Given the description of an element on the screen output the (x, y) to click on. 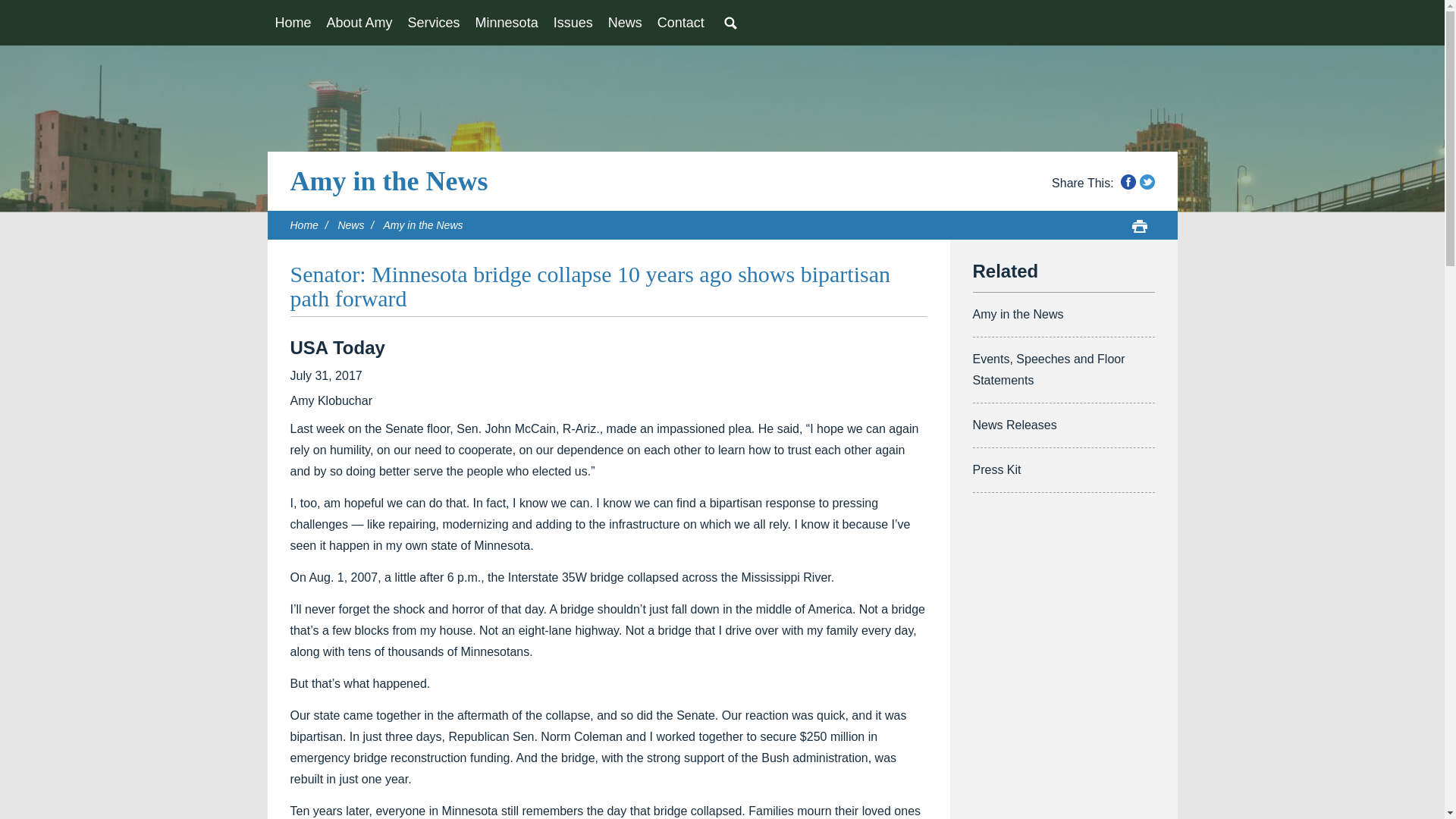
Home (292, 22)
About Amy (359, 22)
Services (433, 22)
Issues (572, 22)
Minnesota (506, 22)
